Given the description of an element on the screen output the (x, y) to click on. 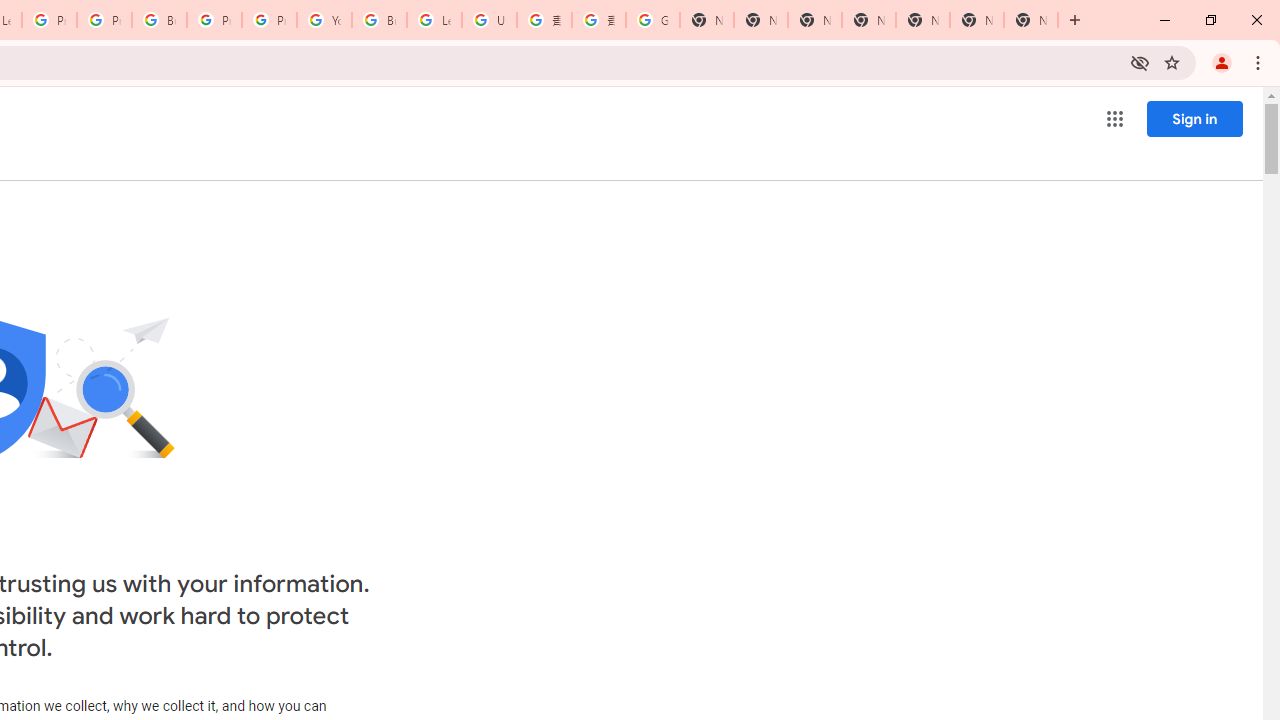
YouTube (324, 20)
Google Images (652, 20)
Privacy Help Center - Policies Help (48, 20)
Privacy Help Center - Policies Help (103, 20)
